Given the description of an element on the screen output the (x, y) to click on. 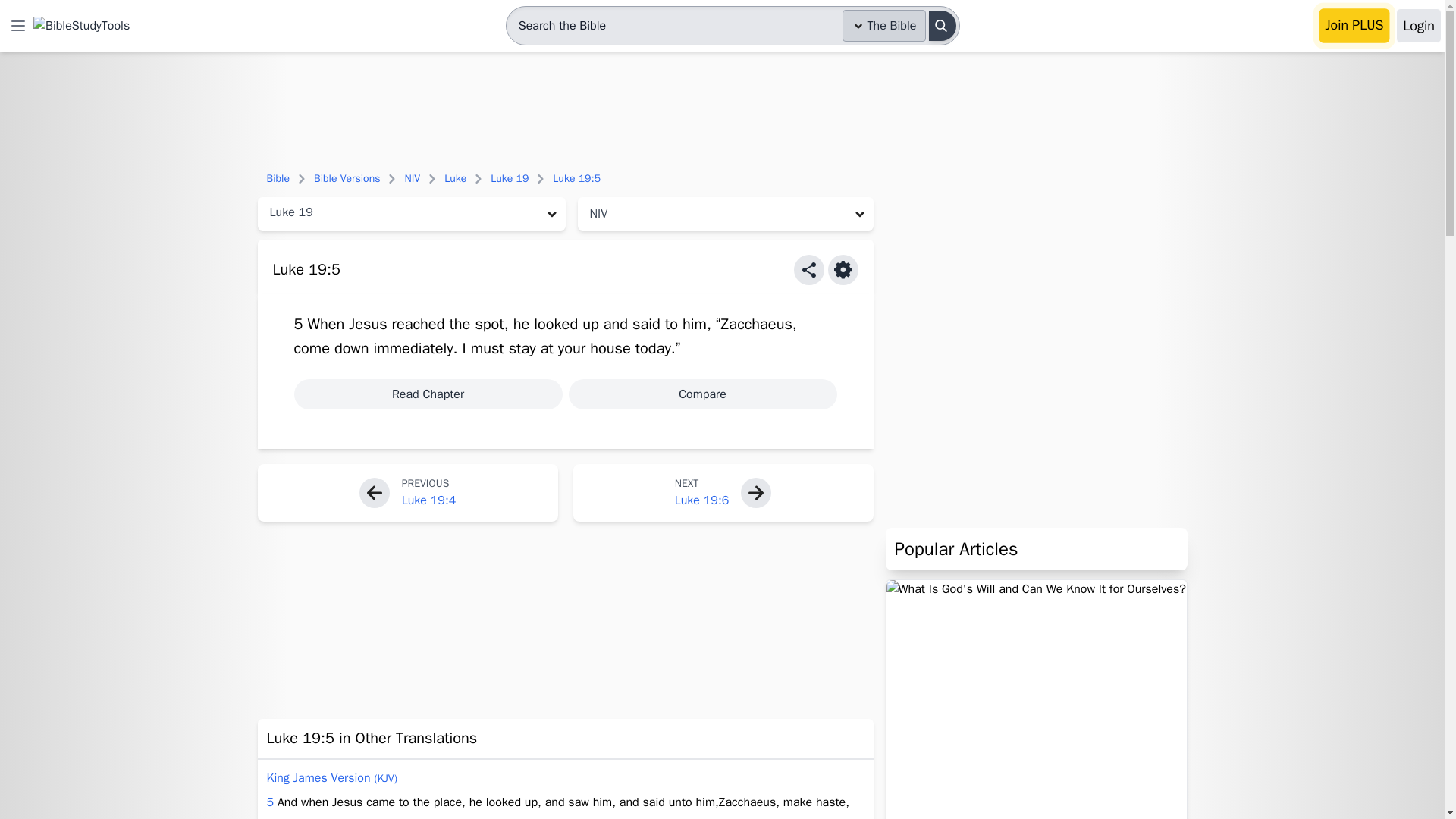
The Bible (884, 25)
Join PLUS (1354, 25)
Scripture Settings (843, 269)
Login (1418, 25)
